Given the description of an element on the screen output the (x, y) to click on. 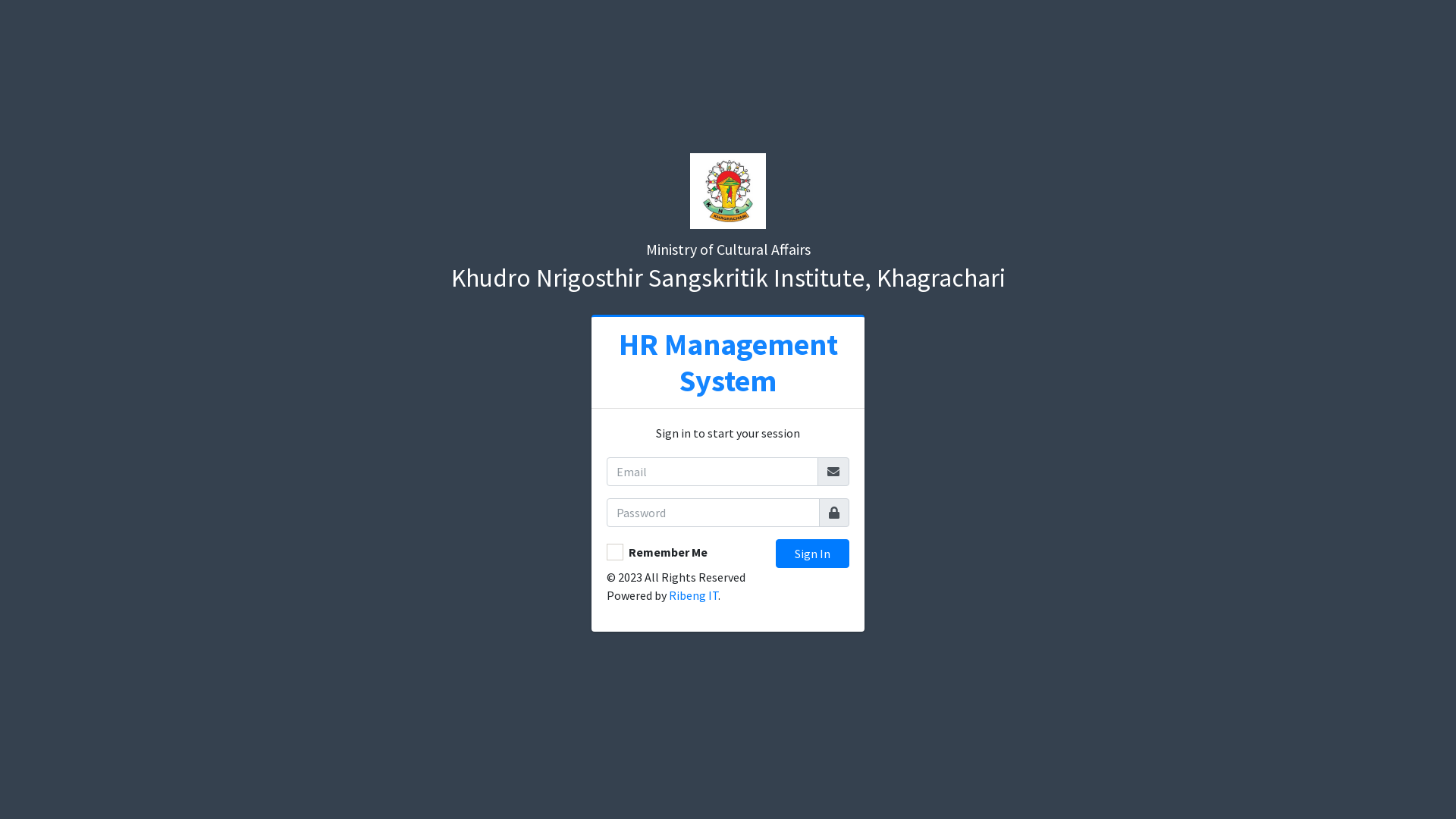
HR Management System Element type: text (727, 362)
Ribeng IT Element type: text (693, 594)
Sign In Element type: text (812, 553)
